Given the description of an element on the screen output the (x, y) to click on. 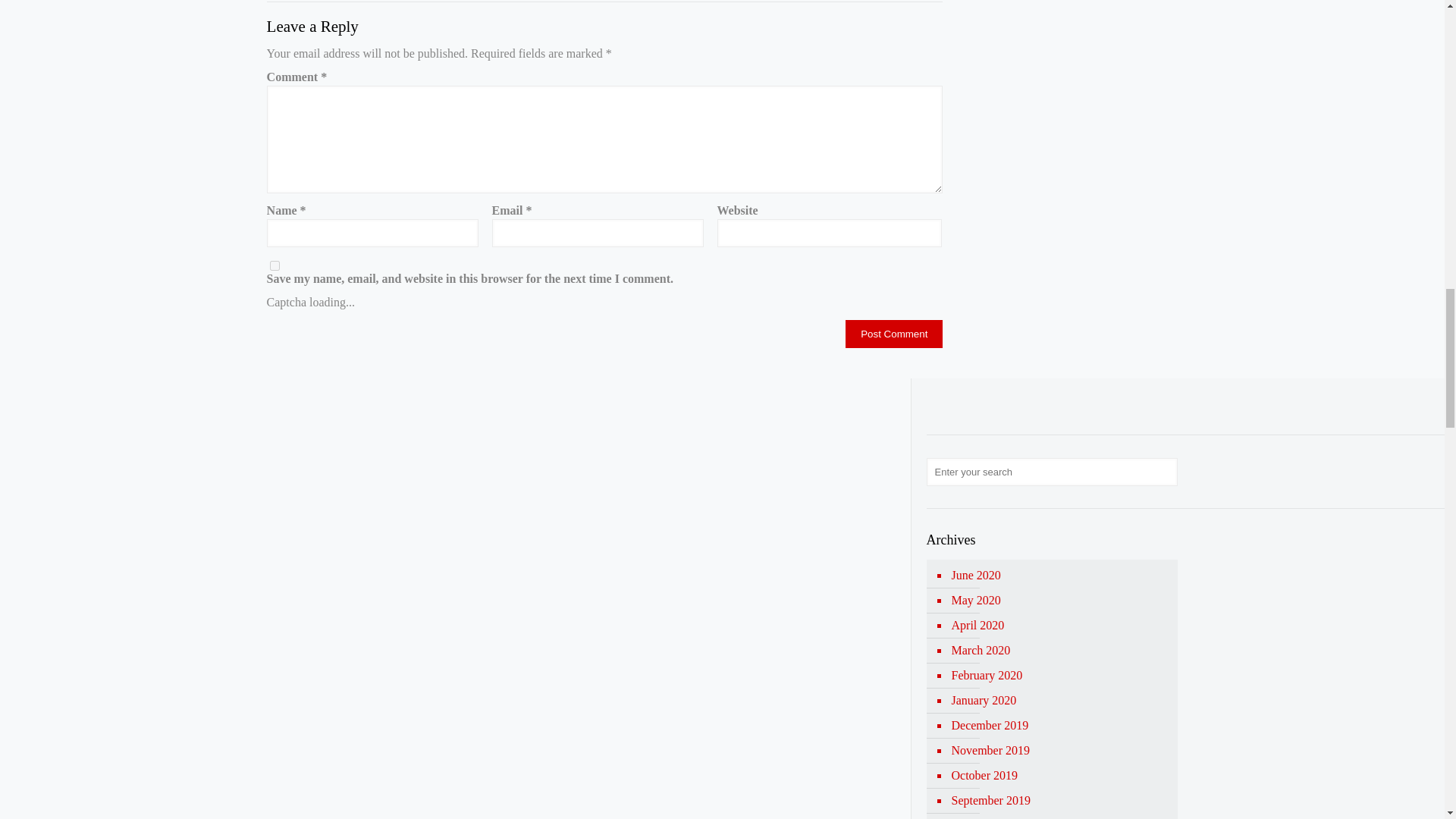
Post Comment (893, 334)
June 2020 (1059, 575)
yes (274, 266)
Post Comment (893, 334)
